Given the description of an element on the screen output the (x, y) to click on. 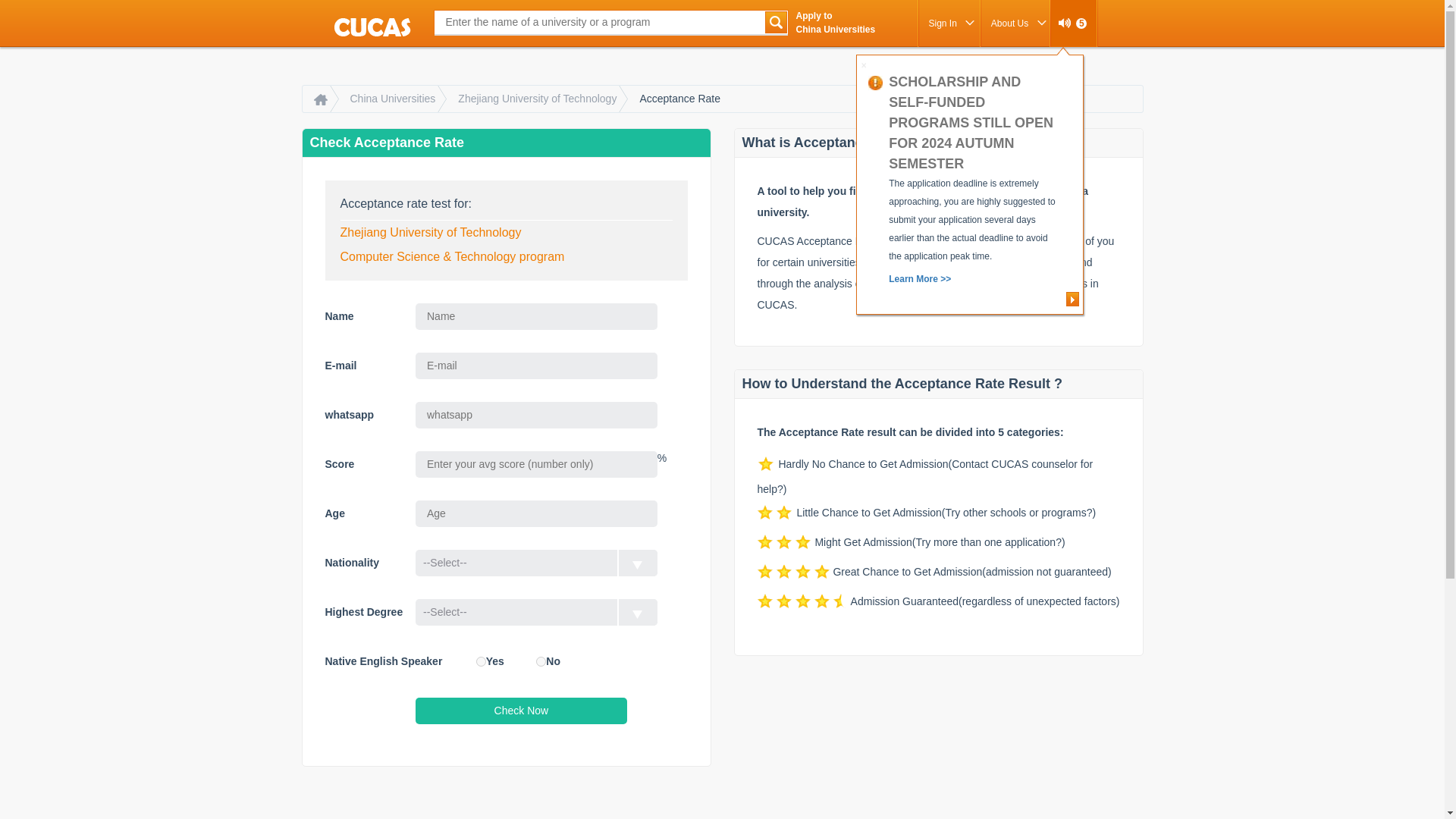
Acceptance Rate (679, 98)
1 (481, 661)
Zhejiang University of Technology (536, 98)
China Universities (391, 98)
0 (540, 661)
Check Now (520, 710)
Sign In (948, 23)
About Us (1014, 23)
CLOSE (863, 65)
Check Now (520, 710)
